Given the description of an element on the screen output the (x, y) to click on. 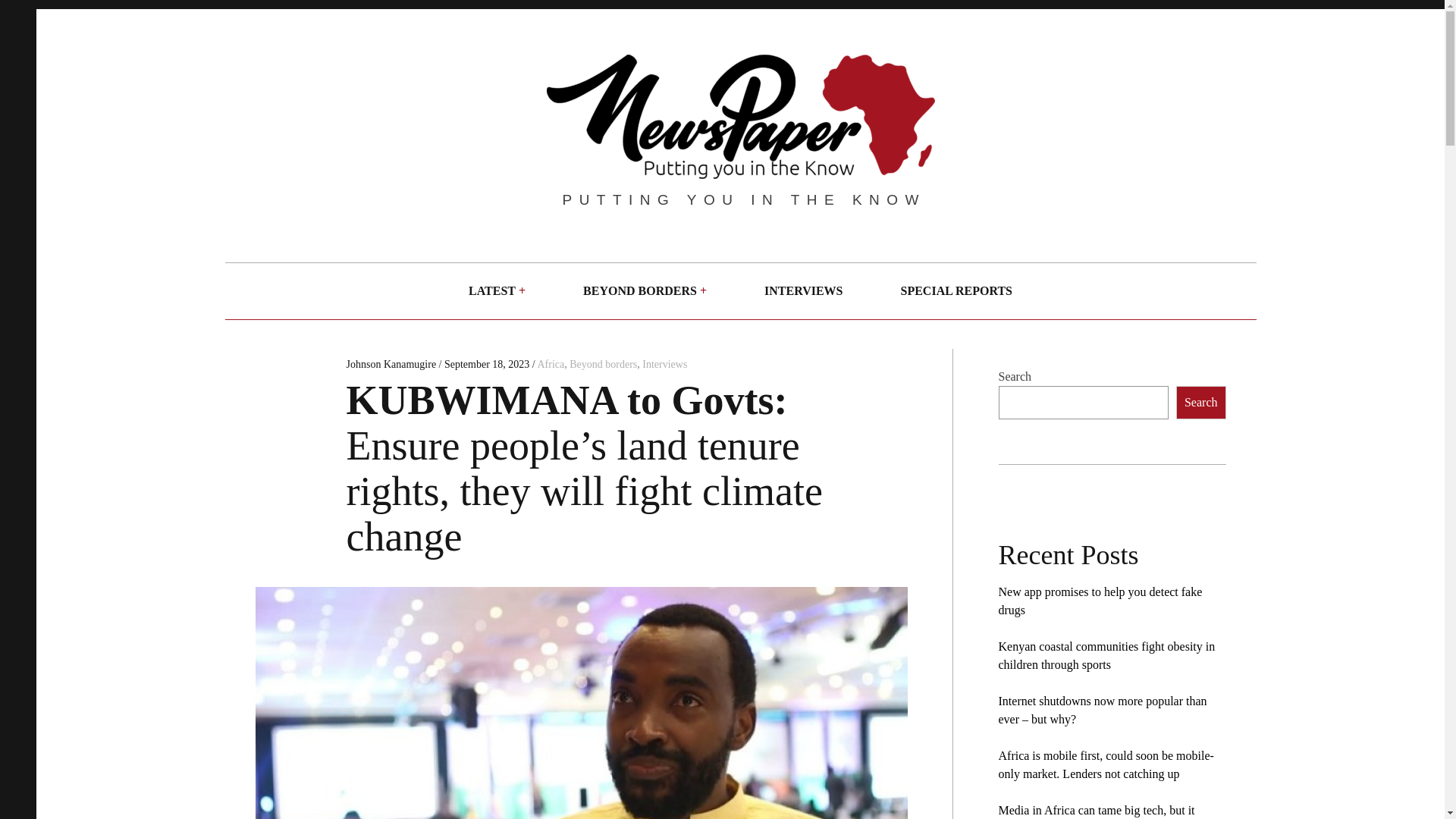
BEYOND BORDERS (639, 290)
LATEST (492, 290)
Johnson Kanamugire (392, 364)
SPECIAL REPORTS (956, 290)
Africa (550, 364)
Beyond borders (603, 364)
Interviews (664, 364)
INTERVIEWS (802, 290)
September 18, 2023 (486, 364)
